Given the description of an element on the screen output the (x, y) to click on. 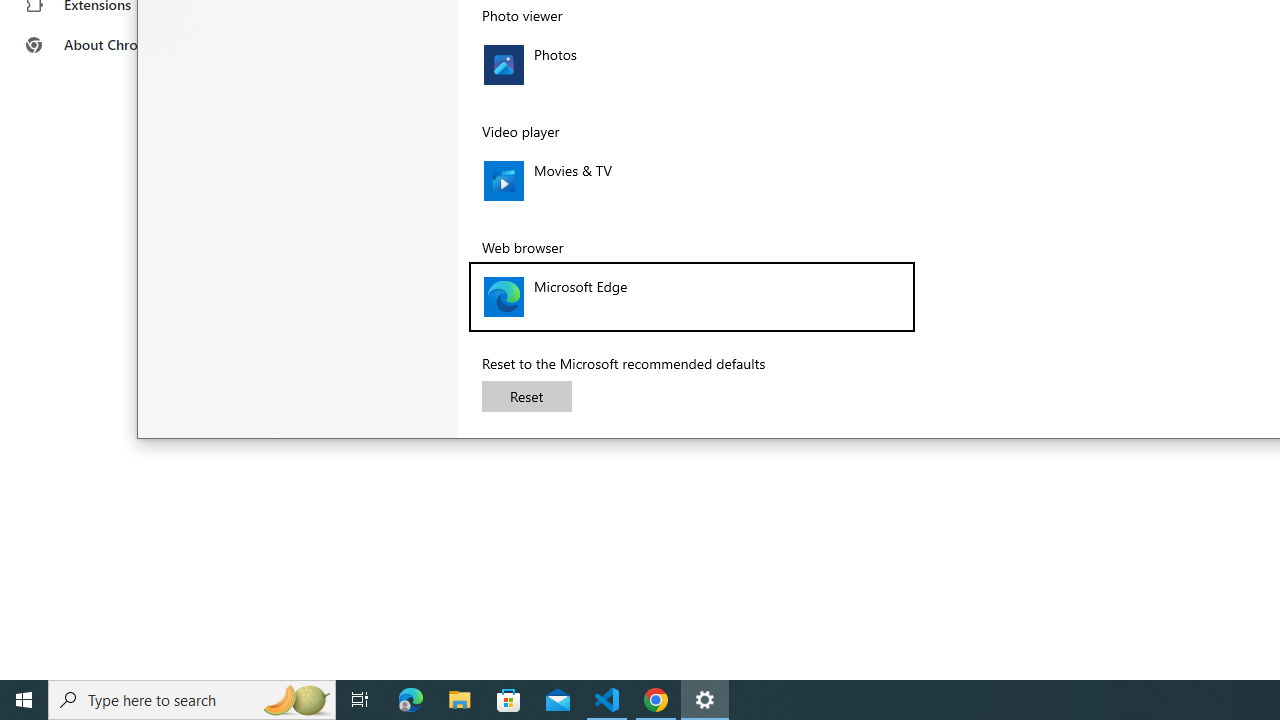
Video player, Movies & TV (691, 181)
Photo viewer, Photos (691, 65)
Web browser, Microsoft Edge (691, 296)
Microsoft Store (509, 699)
Start (24, 699)
Visual Studio Code - 1 running window (607, 699)
Google Chrome - 1 running window (656, 699)
Microsoft Edge (411, 699)
Search highlights icon opens search home window (295, 699)
File Explorer (460, 699)
Settings - 1 running window (704, 699)
Class: Image (503, 296)
Reset (527, 395)
